Given the description of an element on the screen output the (x, y) to click on. 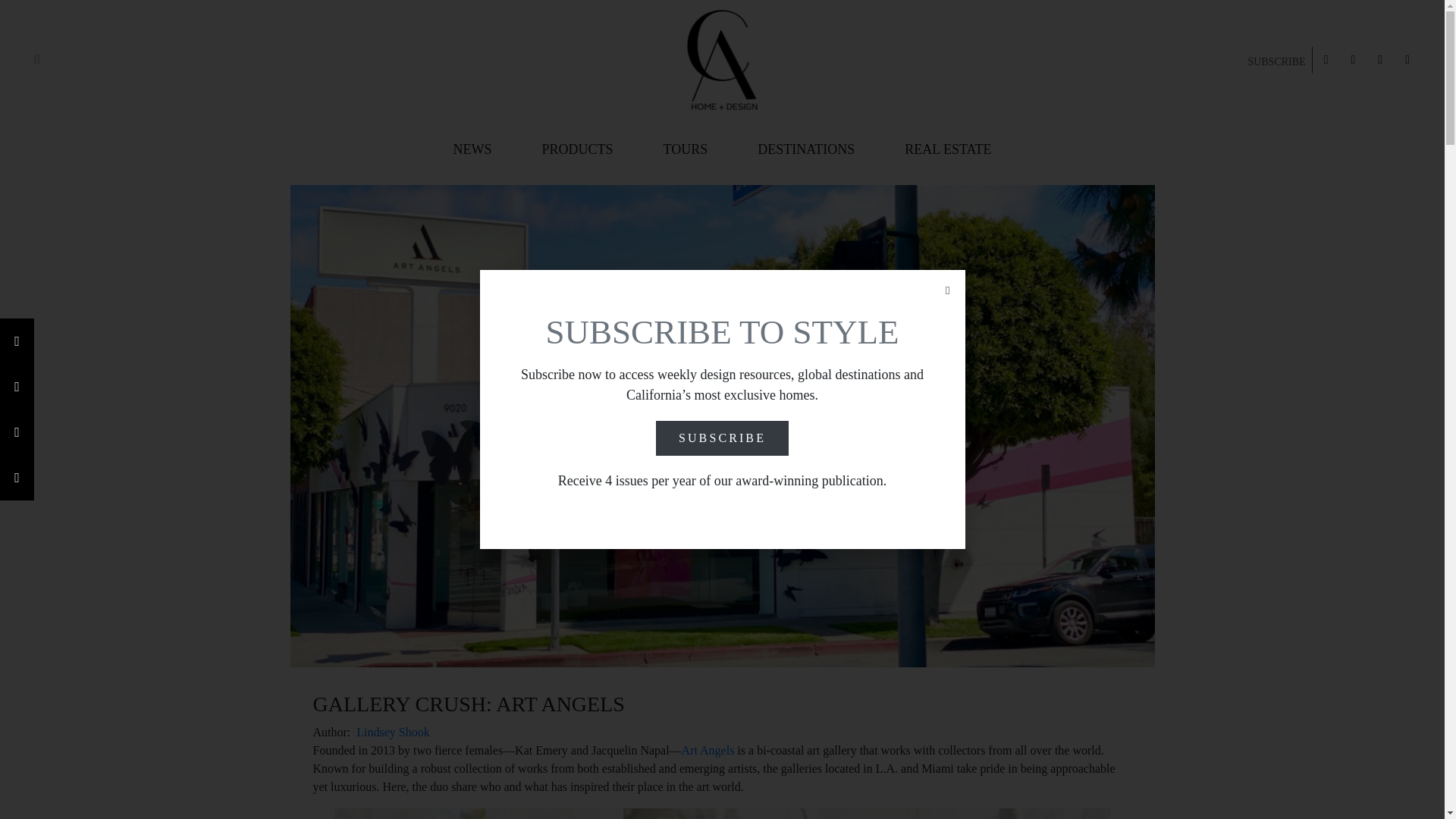
NEWS (472, 149)
SUBSCRIBE (1275, 61)
SUBSCRIBE (1275, 59)
Posts by Lindsey Shook (392, 731)
